Given the description of an element on the screen output the (x, y) to click on. 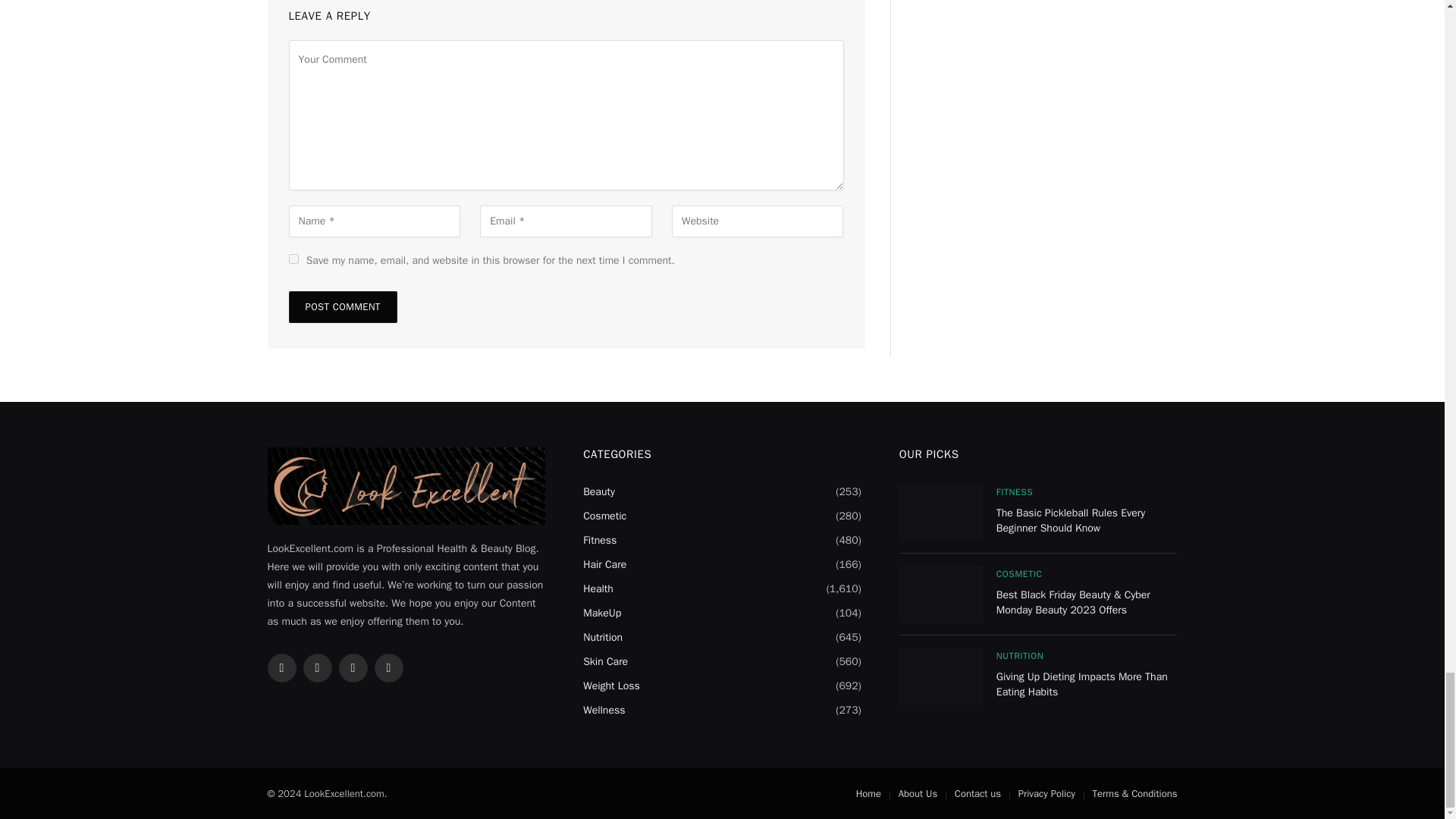
yes (293, 258)
Post Comment (342, 306)
